Given the description of an element on the screen output the (x, y) to click on. 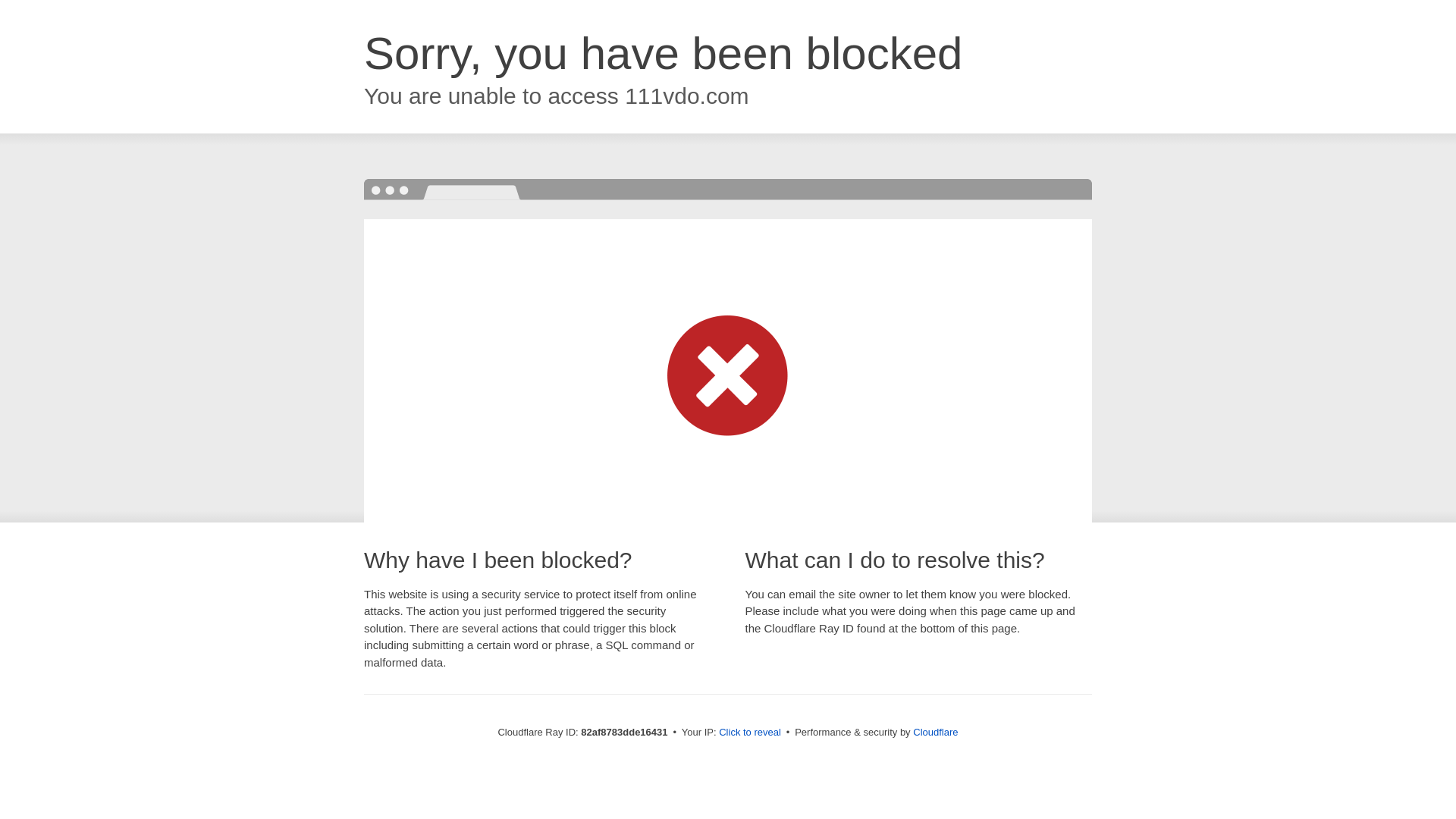
Click to reveal Element type: text (749, 732)
Cloudflare Element type: text (935, 731)
